Given the description of an element on the screen output the (x, y) to click on. 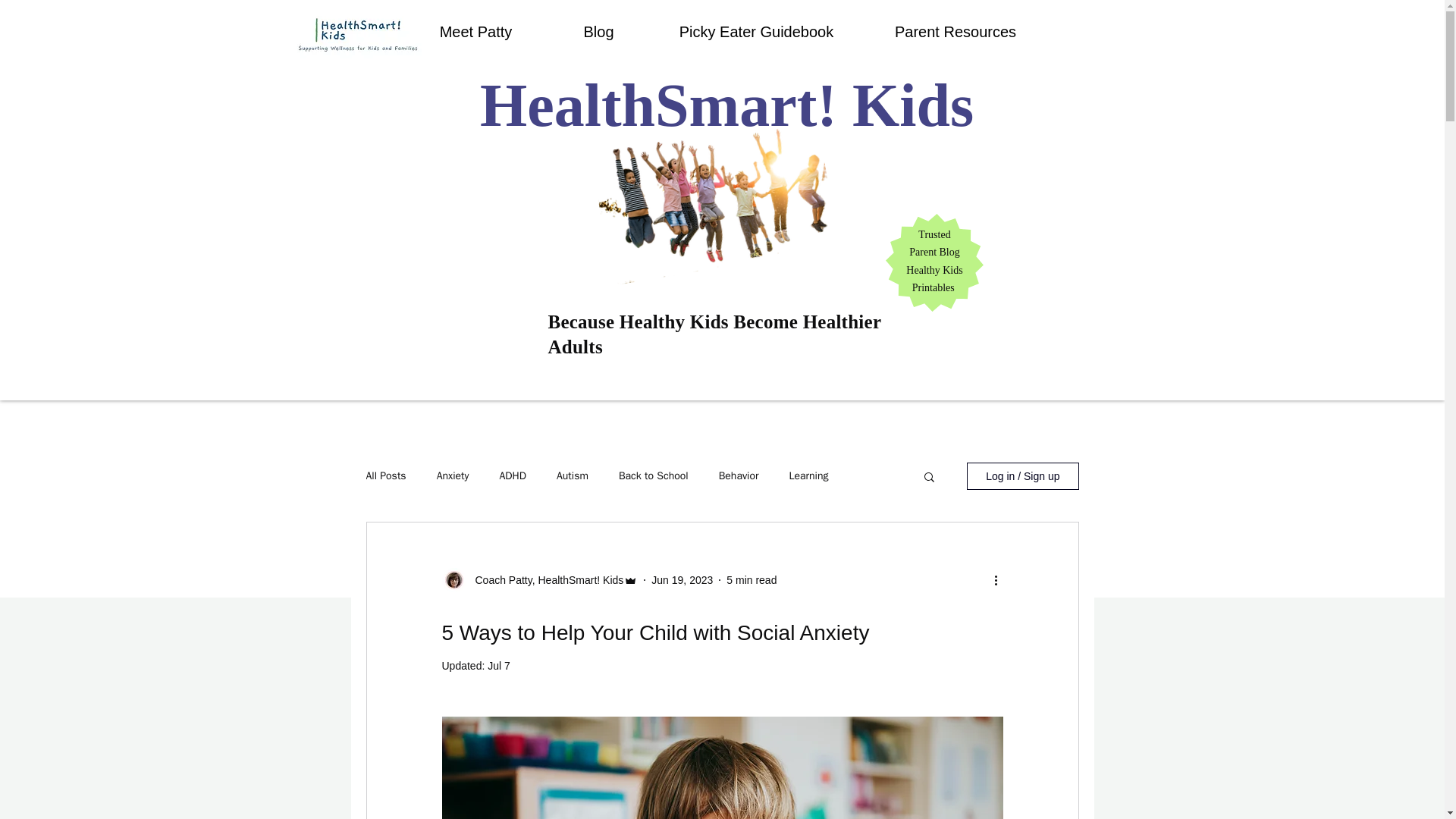
Meet Patty (475, 32)
Back to School (653, 476)
Behavior (738, 476)
Jul 7 (499, 665)
Learning (808, 476)
Parent Resources (955, 32)
Anxiety (452, 476)
Autism (572, 476)
Jun 19, 2023 (681, 579)
5 min read (751, 579)
